Given the description of an element on the screen output the (x, y) to click on. 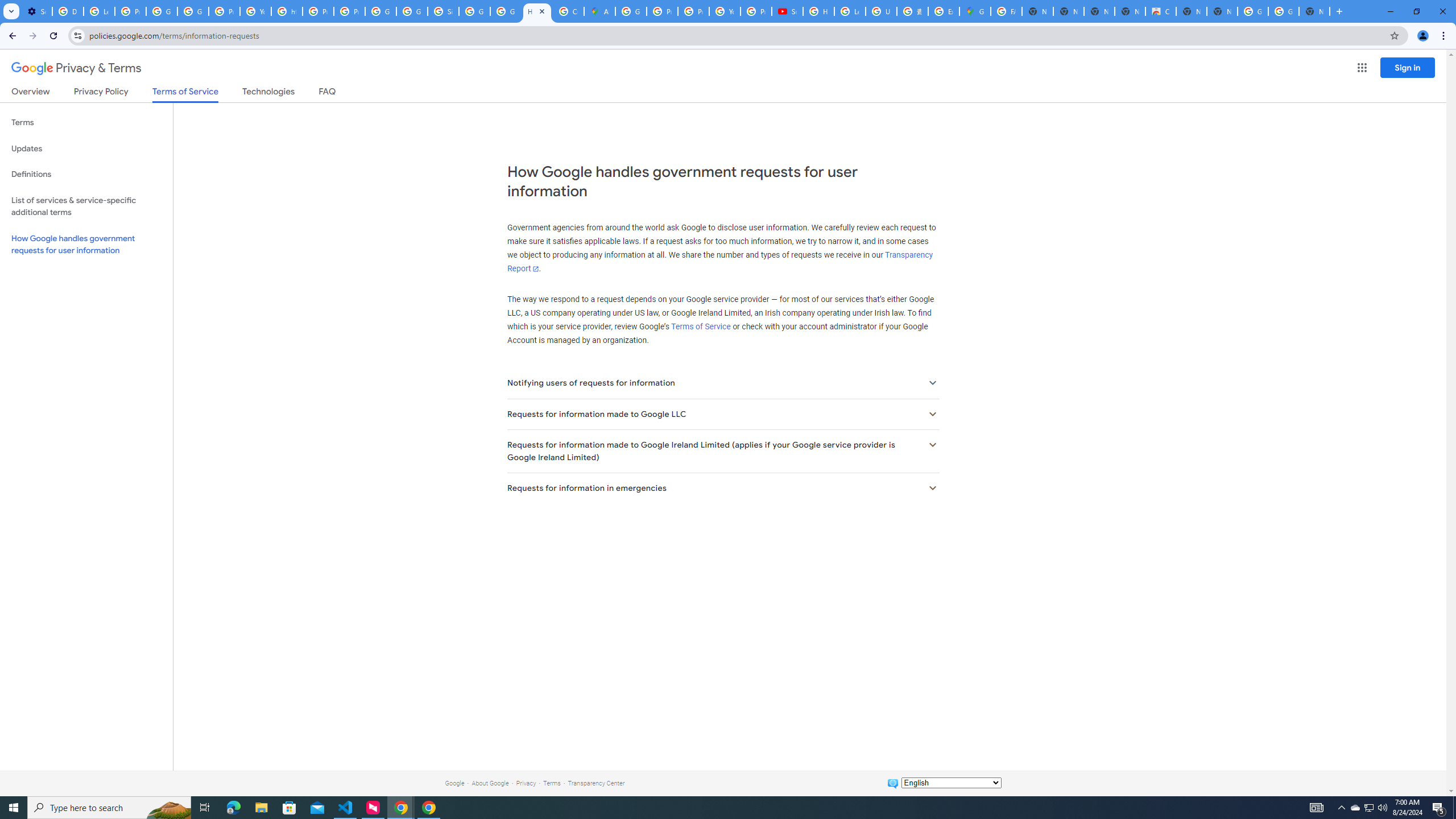
Chrome Web Store (1160, 11)
Privacy Help Center - Policies Help (318, 11)
Requests for information made to Google LLC (722, 413)
YouTube (724, 11)
